Given the description of an element on the screen output the (x, y) to click on. 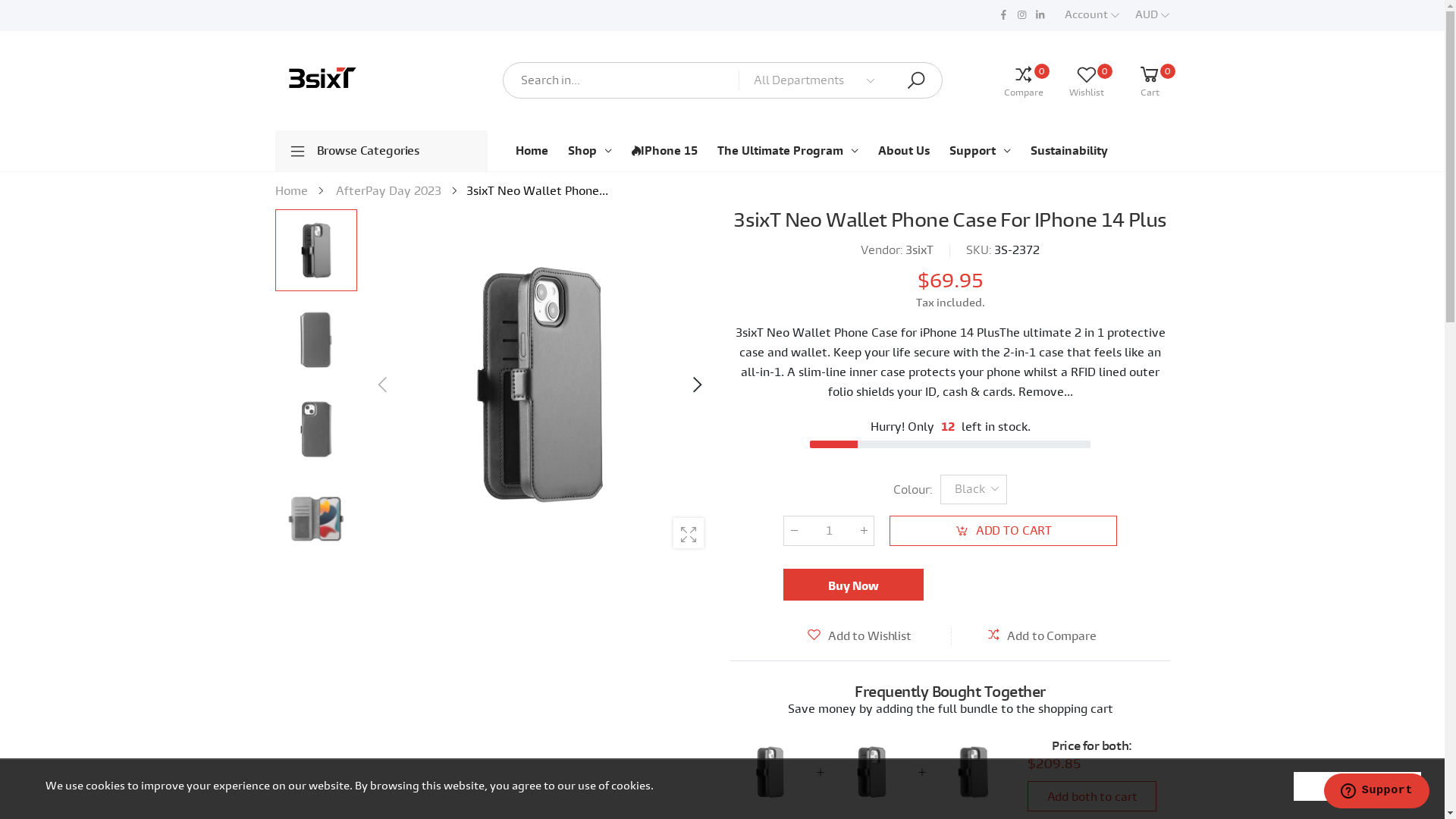
AfterPay Day 2023 Element type: text (387, 190)
3sixT Neo Wallet Phone Case for iPhone 14 Element type: hover (972, 771)
ACCEPT Element type: text (1356, 786)
3sixT Neo Wallet Phone Case for iPhone 14 Pro Element type: hover (870, 771)
Home Element type: text (290, 190)
Shop Element type: text (589, 150)
About Us Element type: text (903, 150)
3sixT Gear on Facebook Element type: hover (1002, 15)
3sixT Element type: text (919, 249)
Black Element type: hover (315, 250)
ADD TO CART Element type: text (1002, 530)
Browse Categories Element type: text (380, 150)
Sustainability Element type: text (1068, 150)
IPhone 15 Element type: text (663, 150)
Black Element type: hover (539, 384)
Buy Now Element type: text (852, 584)
Support Element type: text (979, 150)
3sixT Neo Wallet Phone Case for iPhone 14 Plus Element type: hover (768, 771)
3sixT Gear on Linkedin Element type: hover (1039, 15)
The Ultimate Program Element type: text (787, 150)
Opens a widget where you can chat to one of our agents Element type: hover (1376, 792)
0
Cart Element type: text (1138, 80)
3sixT Gear on Instagram Element type: hover (1021, 15)
Home Element type: text (531, 150)
0
Wishlist Element type: text (1074, 80)
